Given the description of an element on the screen output the (x, y) to click on. 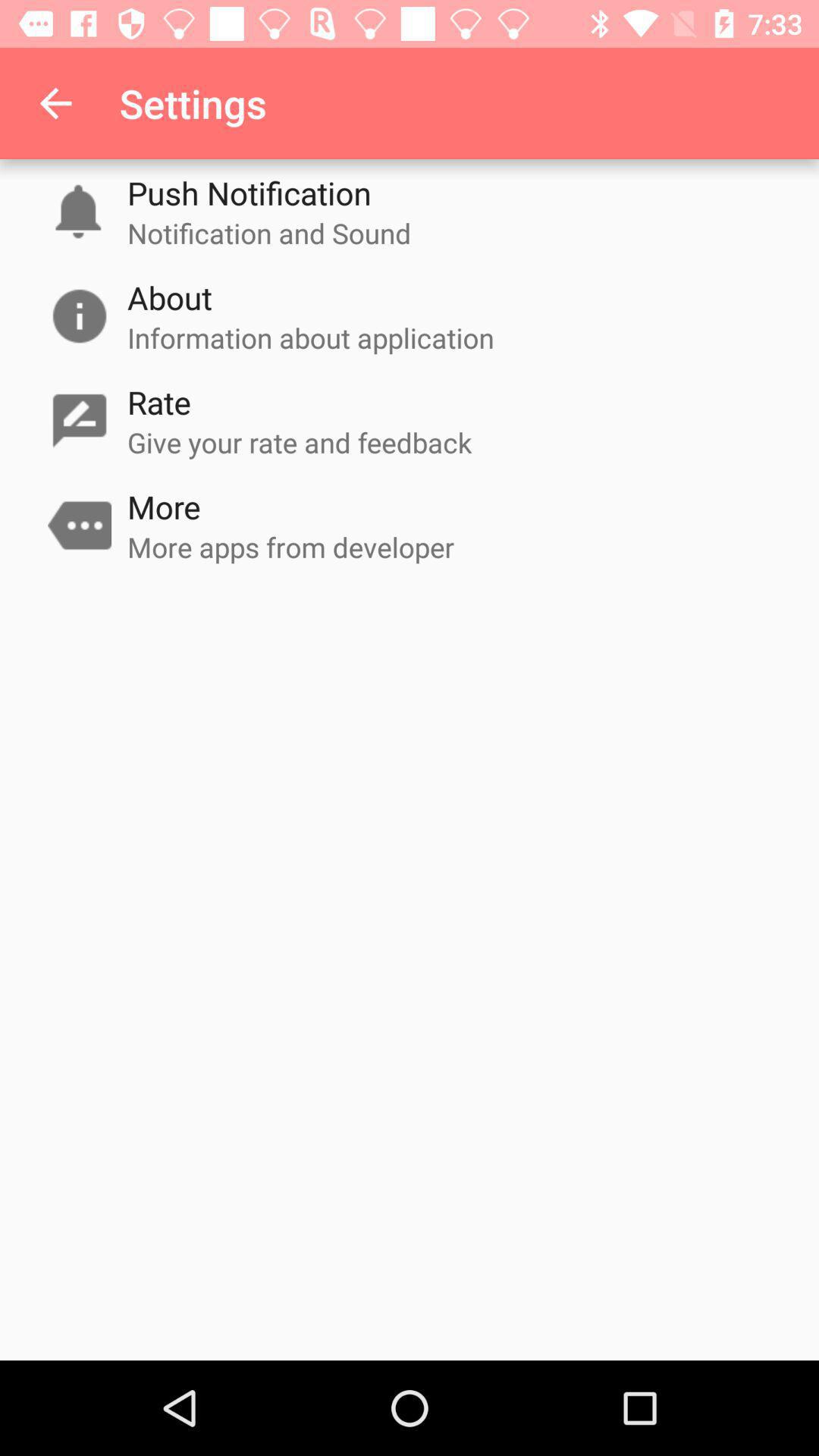
click item to the left of settings (55, 103)
